Given the description of an element on the screen output the (x, y) to click on. 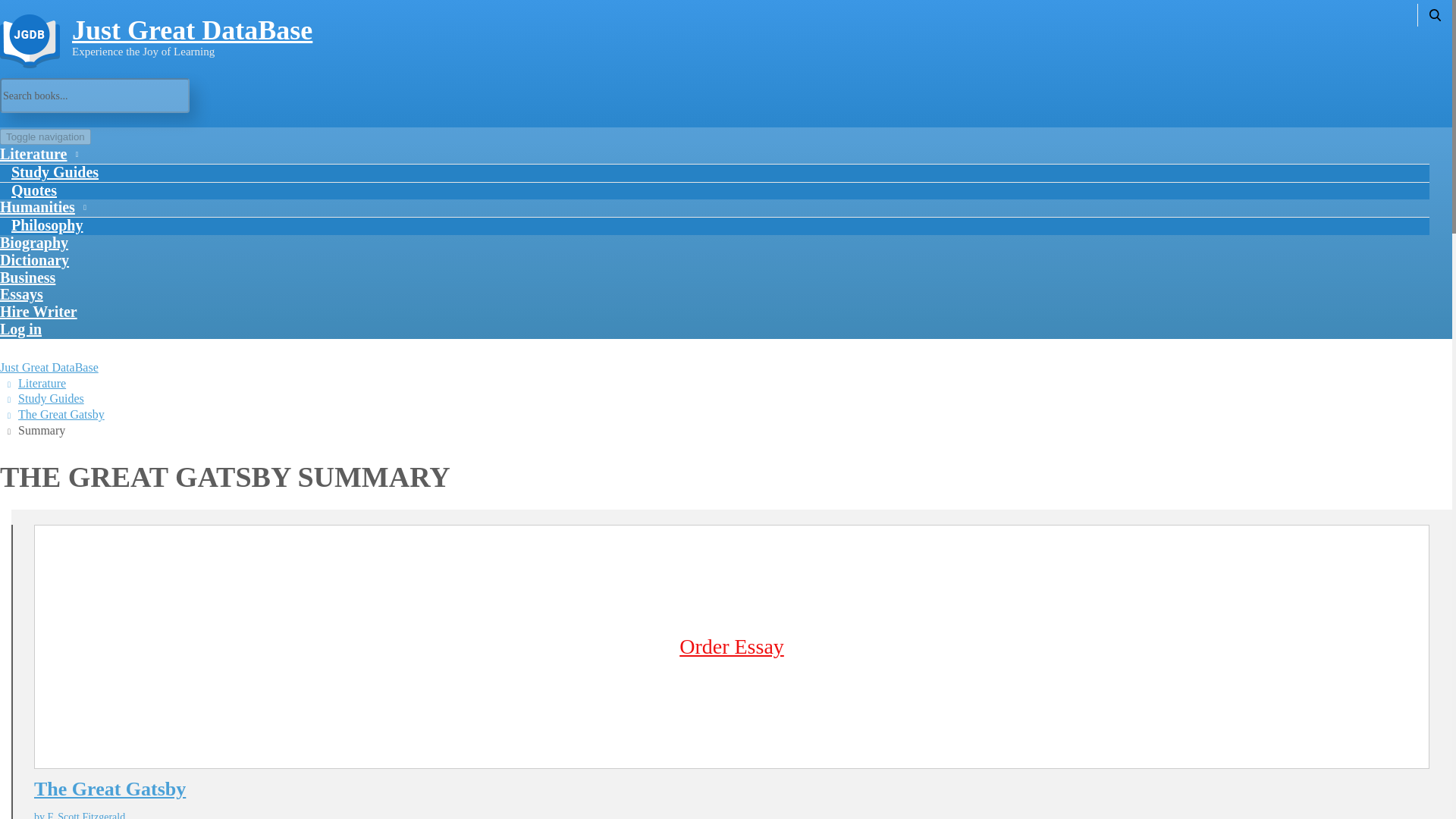
Just Great DataBase (49, 367)
Humanities (41, 206)
The Great Gatsby (60, 413)
Toggle navigation (45, 136)
Business (27, 277)
Order Essay (731, 647)
Literature (37, 153)
Quotes (34, 190)
Study Guides (55, 172)
The Great Gatsby (731, 789)
Dictionary (34, 259)
Literature (41, 382)
Hire Writer (38, 311)
Biography (34, 242)
Study Guides (50, 398)
